Given the description of an element on the screen output the (x, y) to click on. 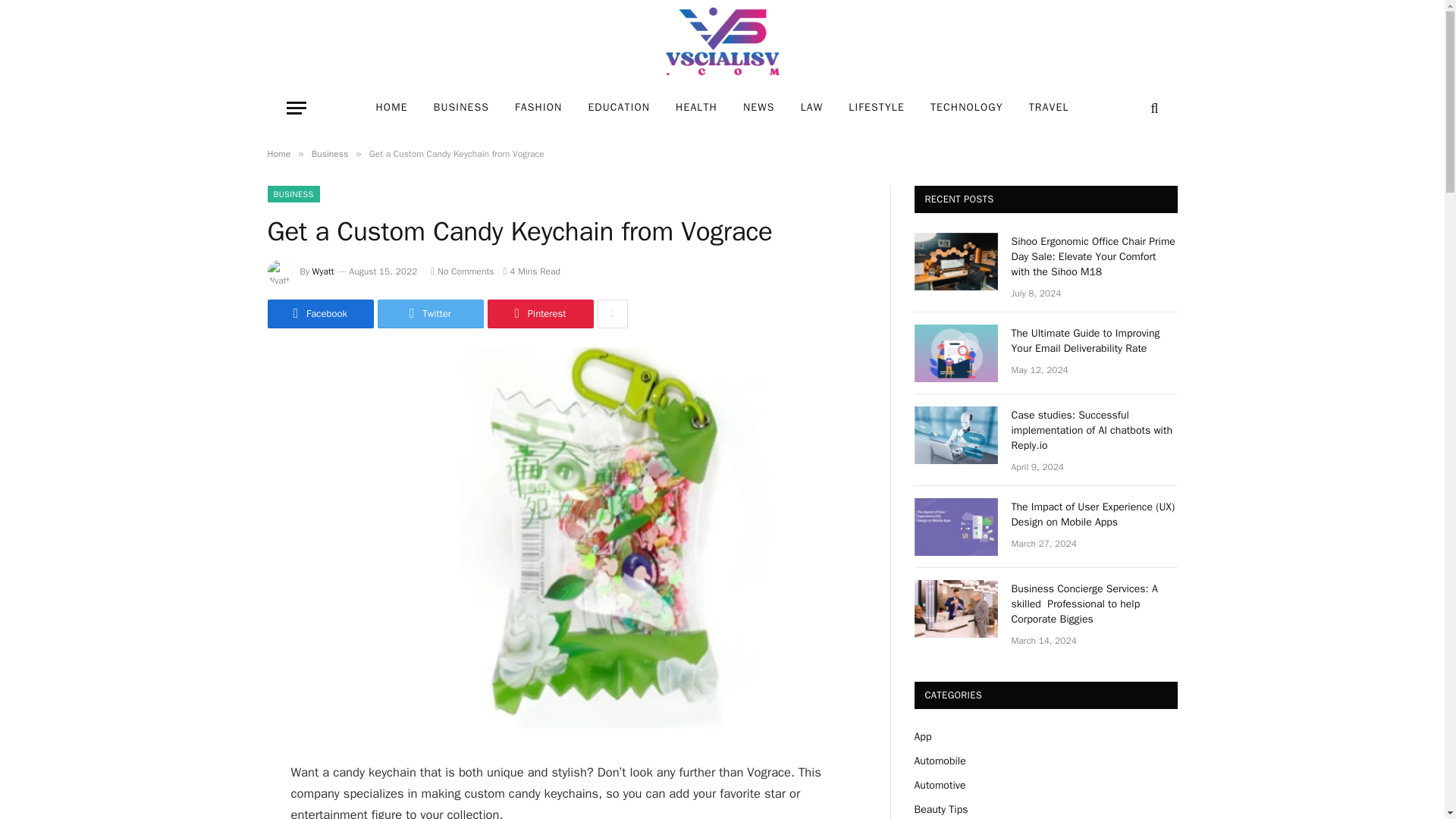
Twitter (430, 313)
BUSINESS (461, 107)
NEWS (758, 107)
HOME (391, 107)
Show More Social Sharing (611, 313)
Business (329, 153)
Wyatt (323, 271)
No Comments (461, 271)
BUSINESS (292, 193)
